Given the description of an element on the screen output the (x, y) to click on. 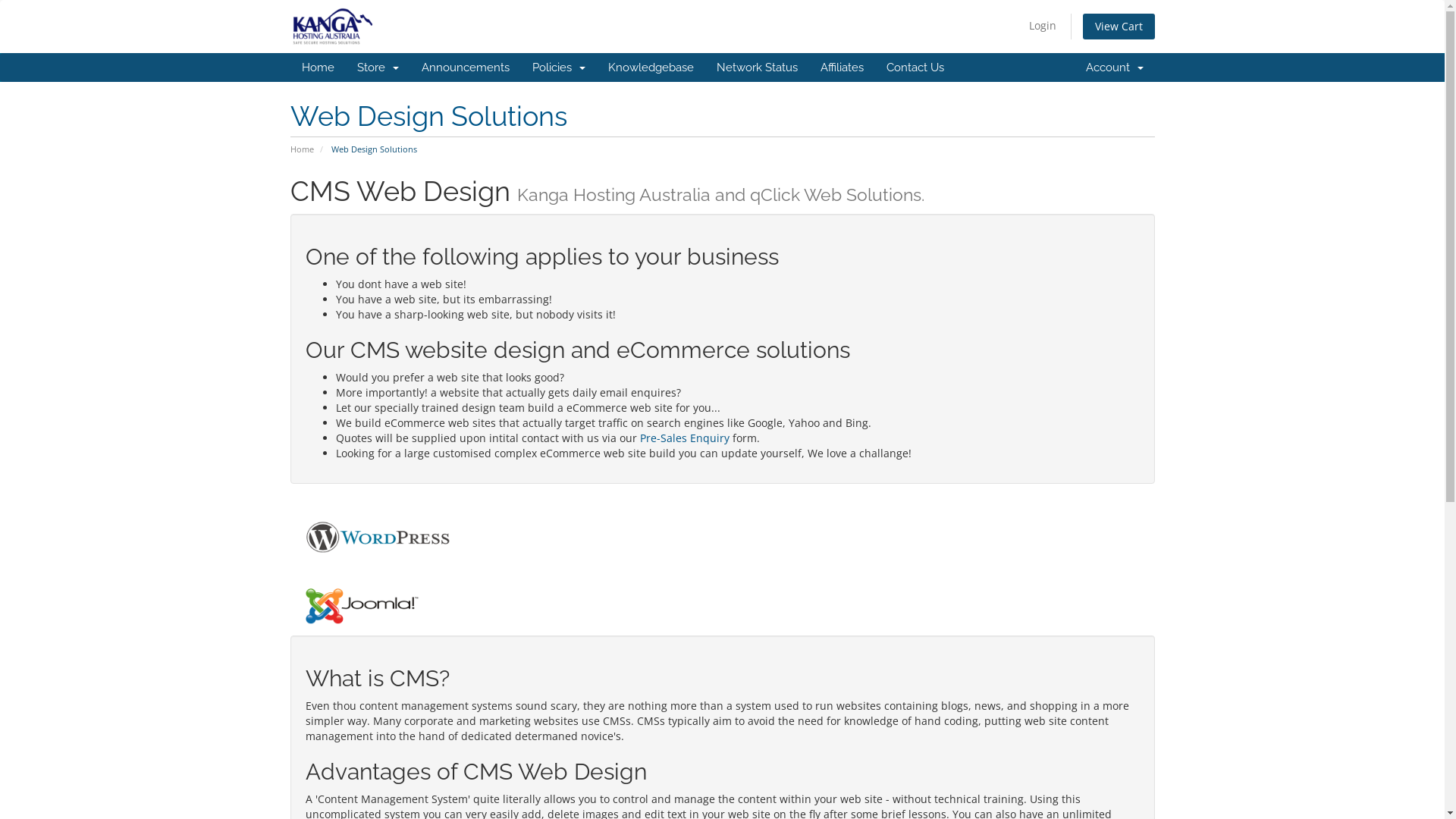
Contact Us Element type: text (915, 67)
Announcements Element type: text (464, 67)
Store   Element type: text (377, 67)
Affiliates Element type: text (841, 67)
Home Element type: text (317, 67)
Account   Element type: text (1113, 67)
Pre-Sales Enquiry Element type: text (684, 437)
Policies   Element type: text (558, 67)
Login Element type: text (1041, 25)
Home Element type: text (301, 148)
Knowledgebase Element type: text (650, 67)
Network Status Element type: text (757, 67)
View Cart Element type: text (1118, 26)
